Given the description of an element on the screen output the (x, y) to click on. 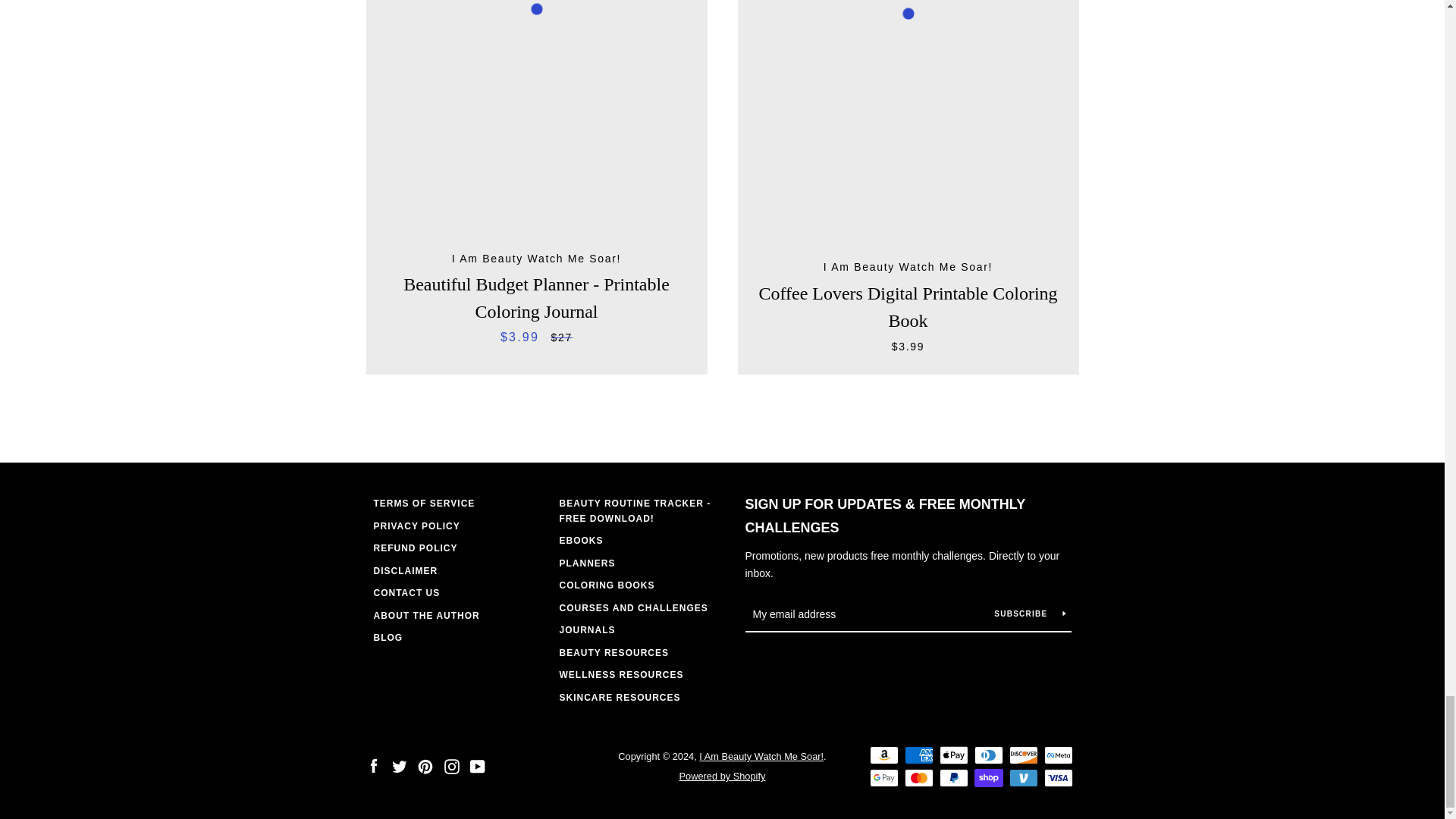
I Am Beauty Watch Me Soar! on Pinterest (424, 765)
PayPal (953, 778)
Apple Pay (953, 755)
Diners Club (988, 755)
Shop Pay (988, 778)
I Am Beauty Watch Me Soar! on Facebook (372, 765)
Google Pay (883, 778)
Meta Pay (1057, 755)
Venmo (1022, 778)
I Am Beauty Watch Me Soar! on Twitter (399, 765)
